Given the description of an element on the screen output the (x, y) to click on. 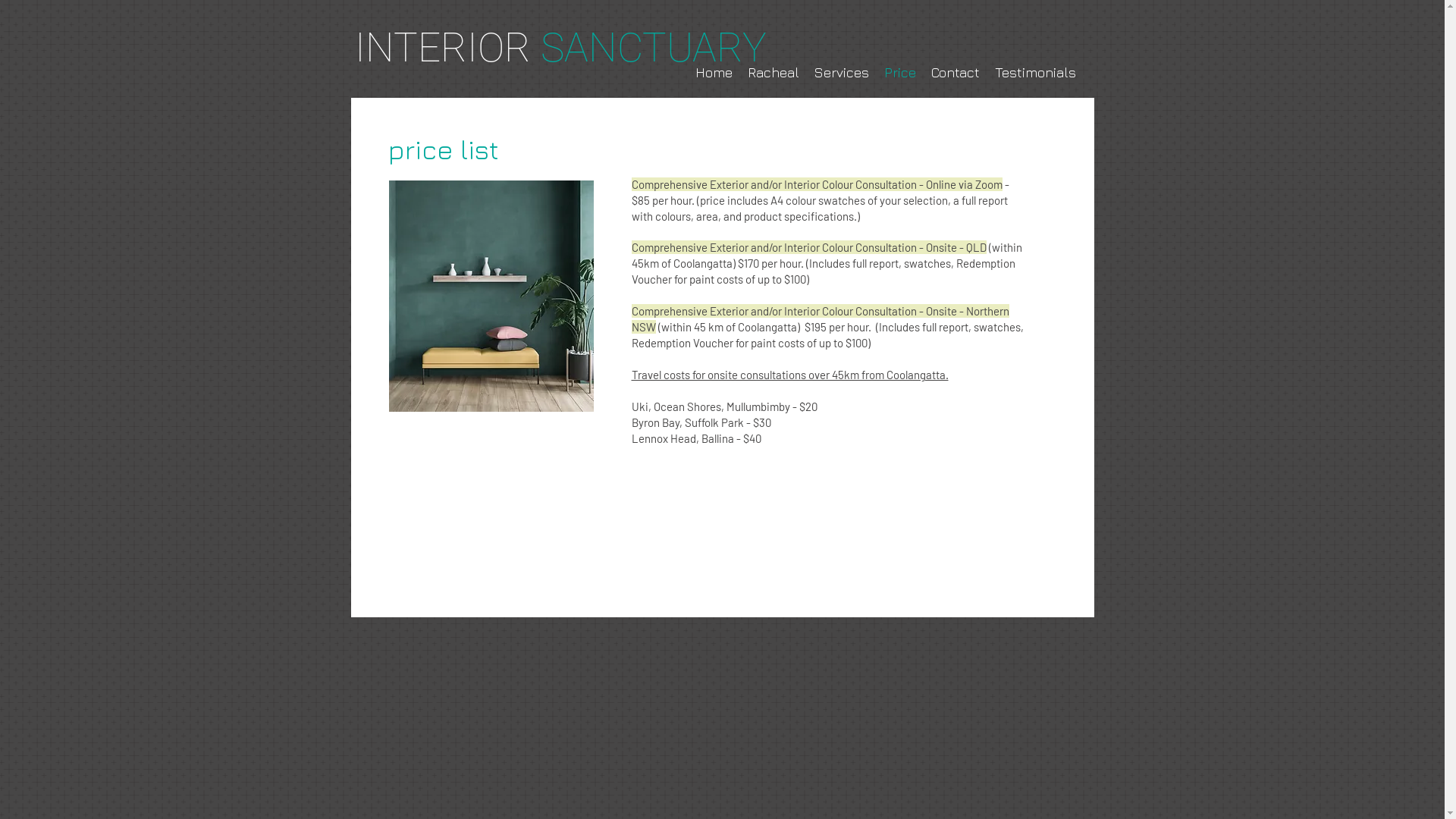
Racheal Element type: text (773, 72)
Contact Element type: text (955, 72)
Home Element type: text (713, 72)
Price Element type: text (899, 72)
Services Element type: text (841, 72)
Testimonials Element type: text (1035, 72)
